Given the description of an element on the screen output the (x, y) to click on. 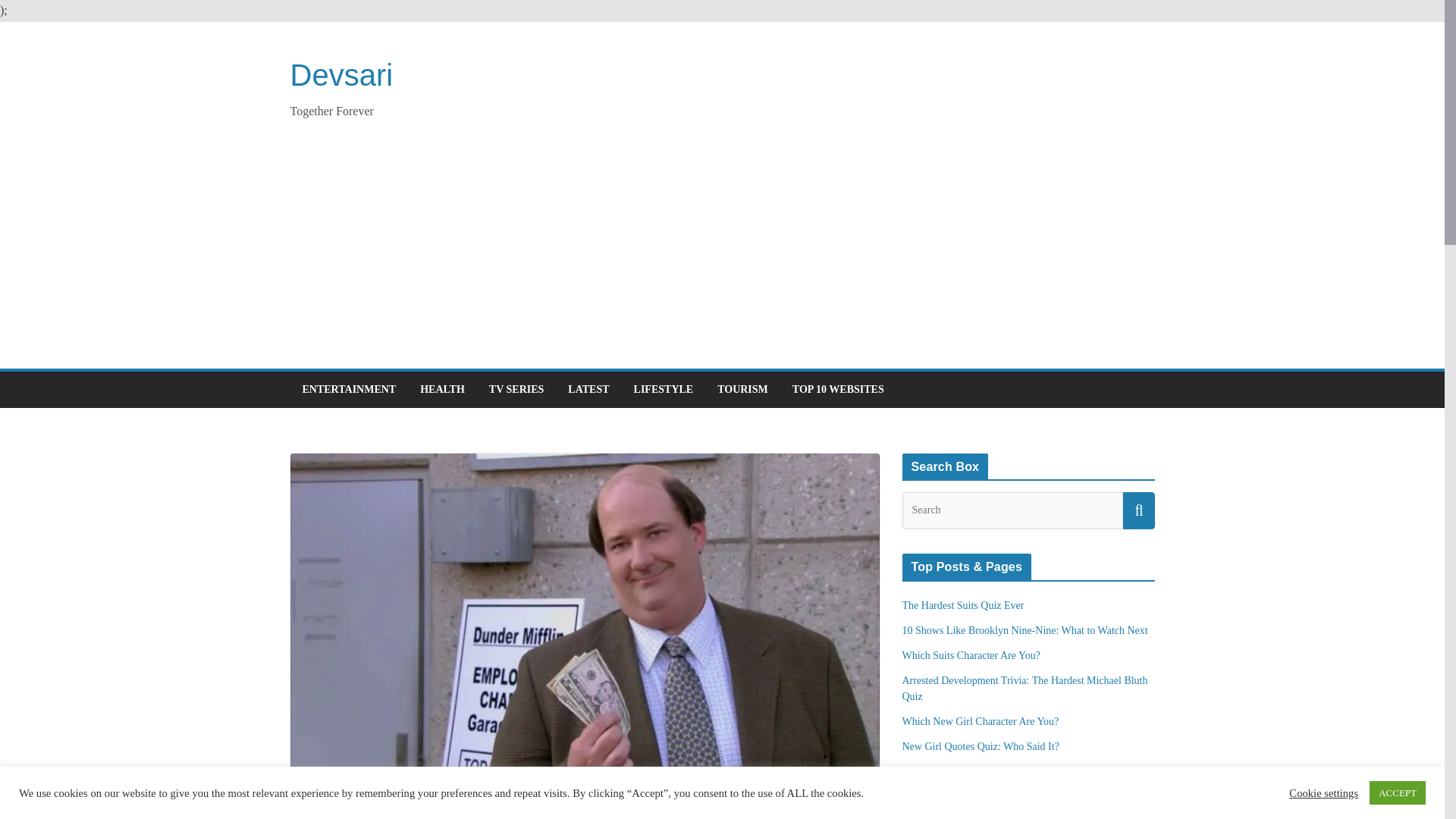
ENTERTAINMENT (348, 389)
10 Shows Like Brooklyn Nine-Nine: What to Watch Next (1025, 630)
Devsari (341, 74)
LATEST (587, 389)
ENTERTAINMENT (342, 805)
TOP 10 WEBSITES (837, 389)
Which Suits Character Are You? (971, 655)
TV SERIES (510, 805)
HEALTH (442, 389)
LIFESTYLE (663, 389)
